Given the description of an element on the screen output the (x, y) to click on. 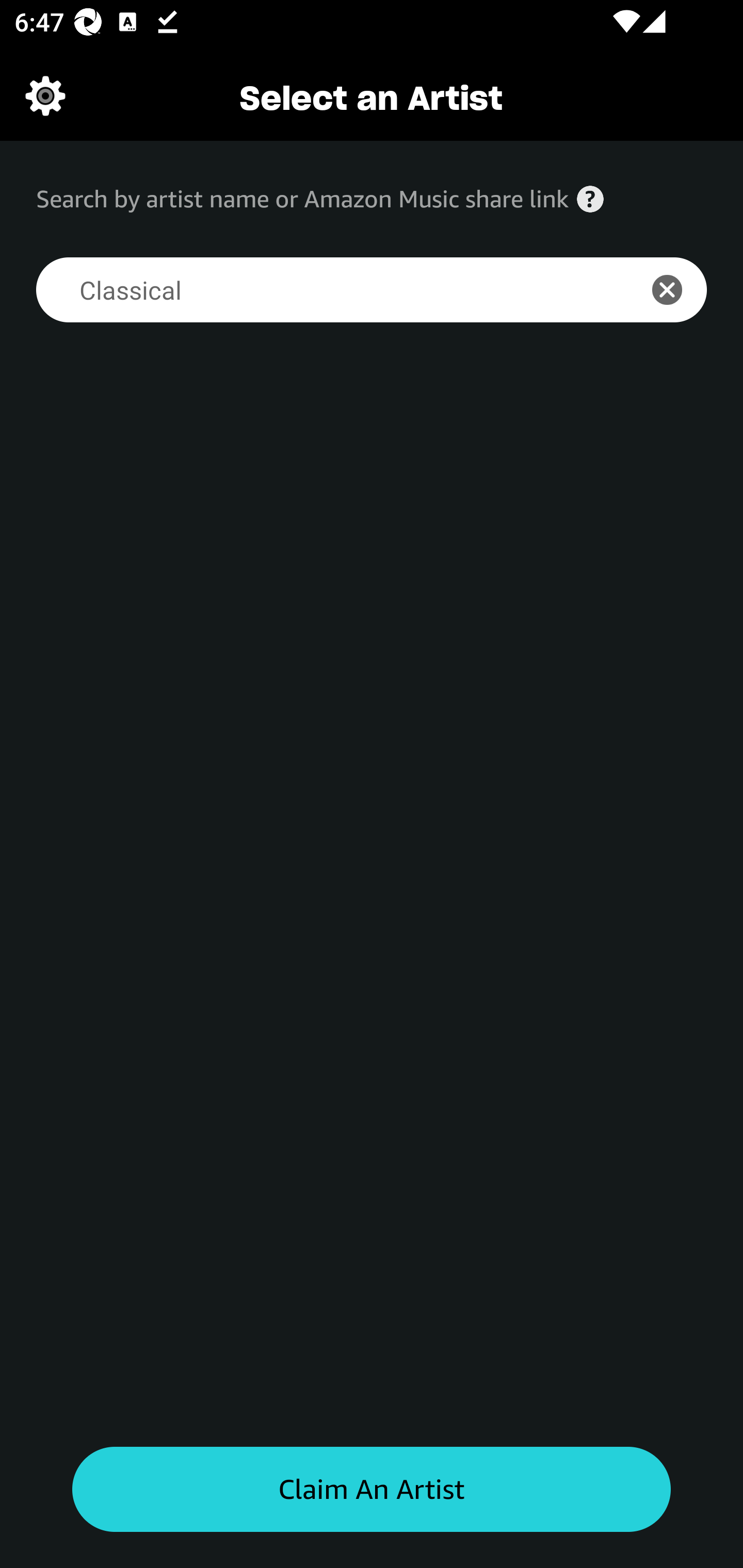
Help  icon (589, 199)
Classical Search for an artist search bar (324, 290)
 icon (677, 290)
Claim an artist button Claim An Artist (371, 1489)
